Given the description of an element on the screen output the (x, y) to click on. 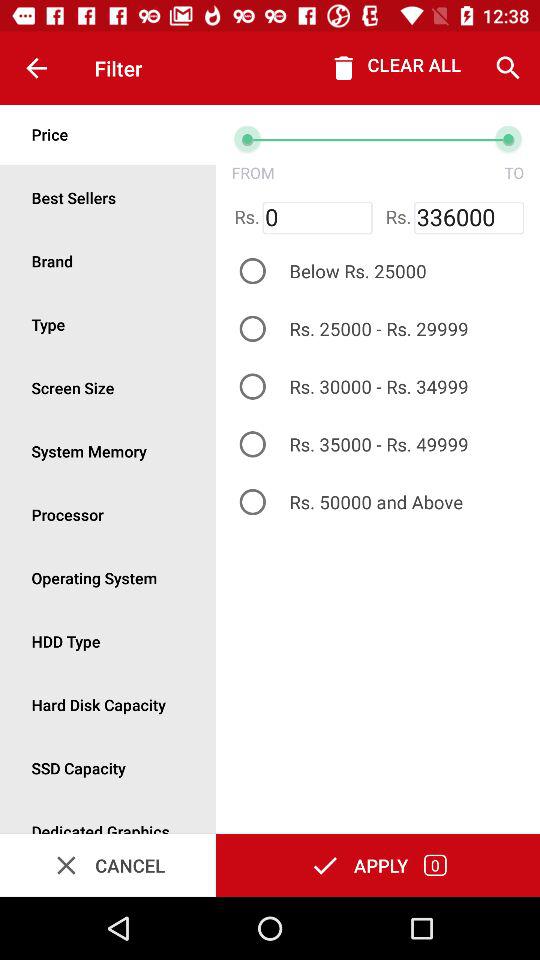
launch icon below the to (468, 217)
